Given the description of an element on the screen output the (x, y) to click on. 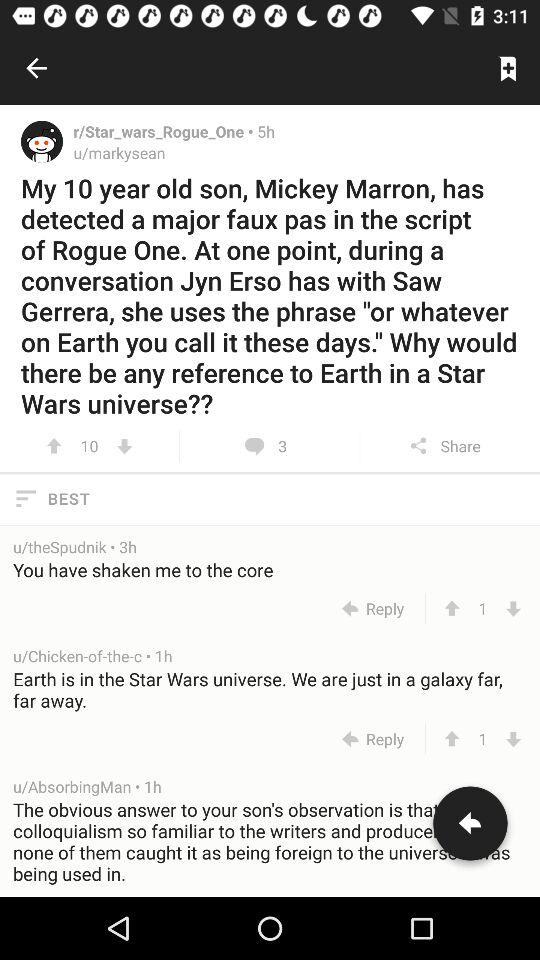
bring up a user (42, 141)
